Given the description of an element on the screen output the (x, y) to click on. 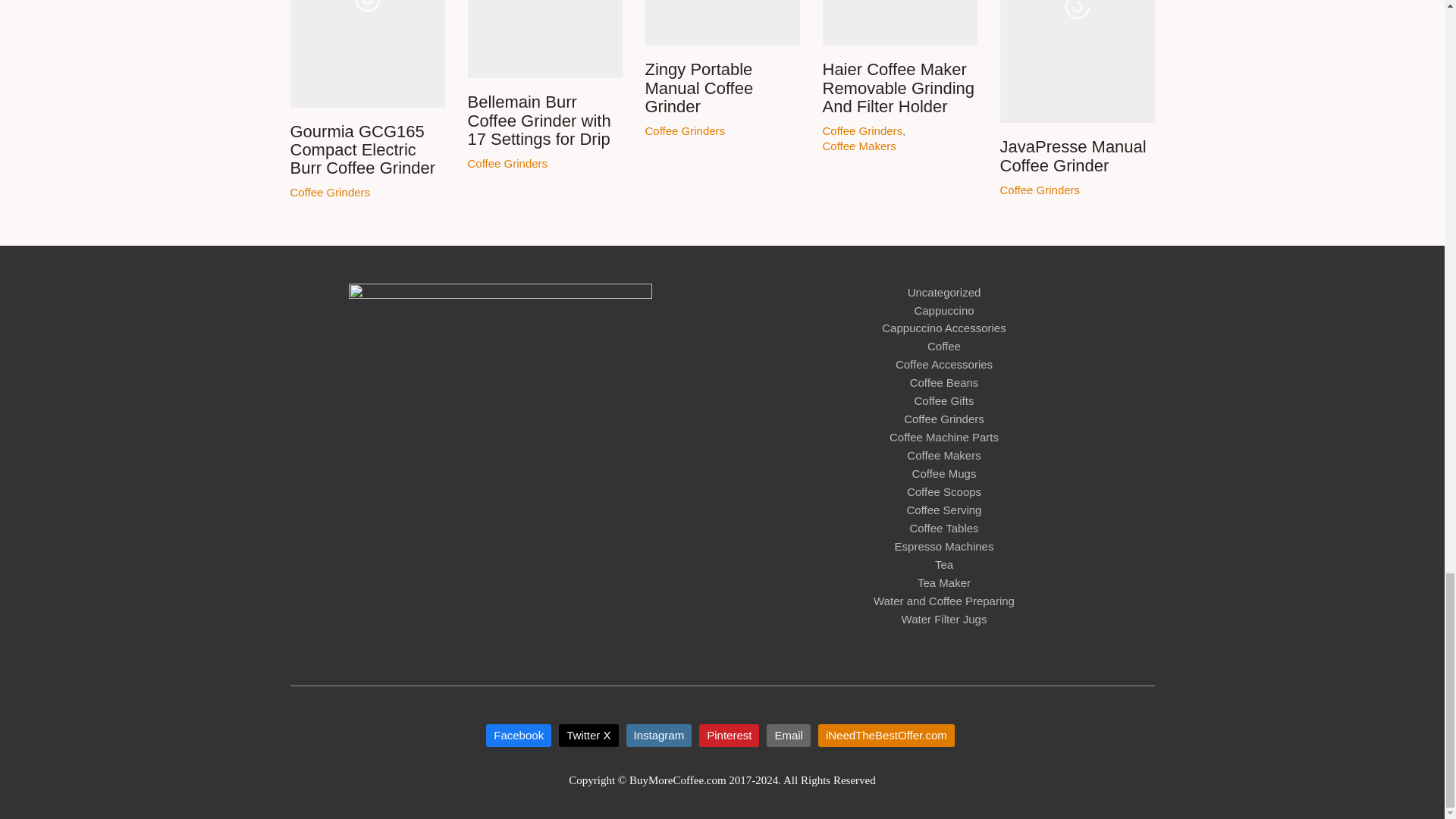
Instagram (659, 734)
Pinterest (728, 734)
Facebook (518, 734)
iNeedTheBestOffer.com (886, 734)
Email (788, 734)
Twitter X (588, 734)
